Given the description of an element on the screen output the (x, y) to click on. 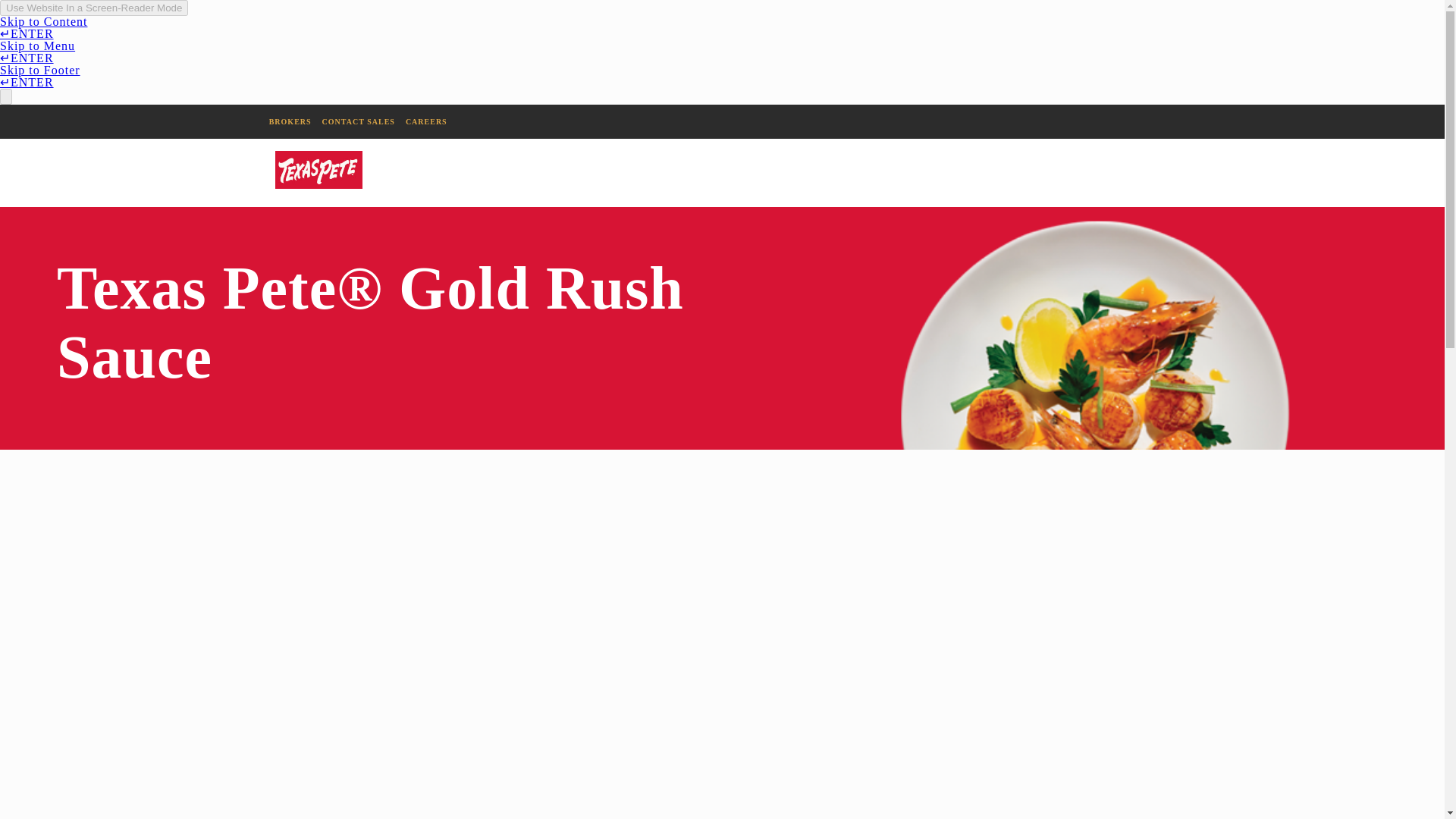
CULINARY (1116, 172)
CAREERS (426, 121)
NEWS (1342, 172)
BROKERS (290, 121)
Texas Pete Foodservice (318, 168)
CONTACT SALES (357, 121)
PRODUCTS (1236, 172)
